Given the description of an element on the screen output the (x, y) to click on. 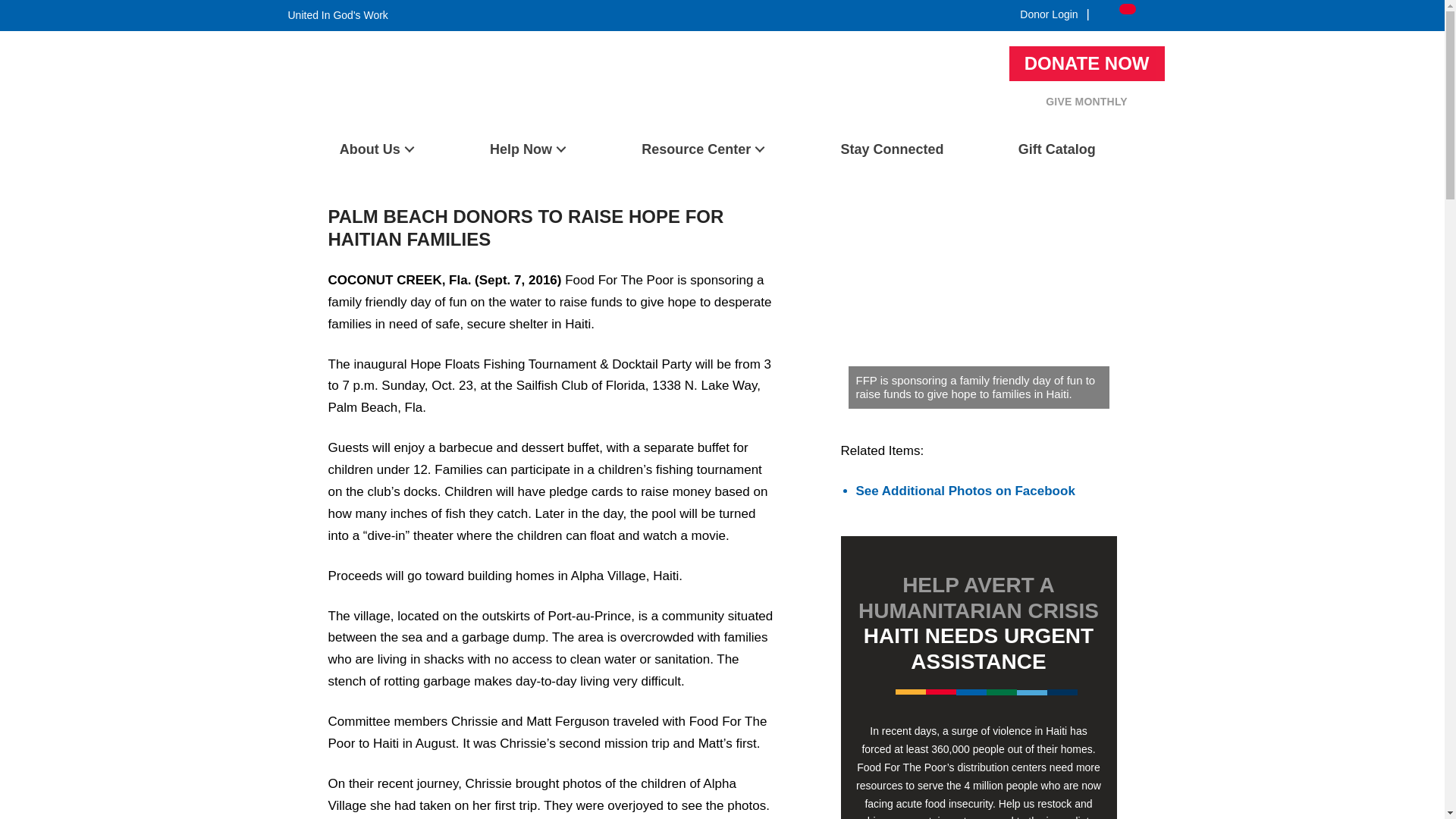
Food For The Poor (334, 122)
About Us (376, 149)
DONATE NOW (1086, 63)
GIVE MONTHLY (1085, 101)
Donor Login (1048, 14)
